Given the description of an element on the screen output the (x, y) to click on. 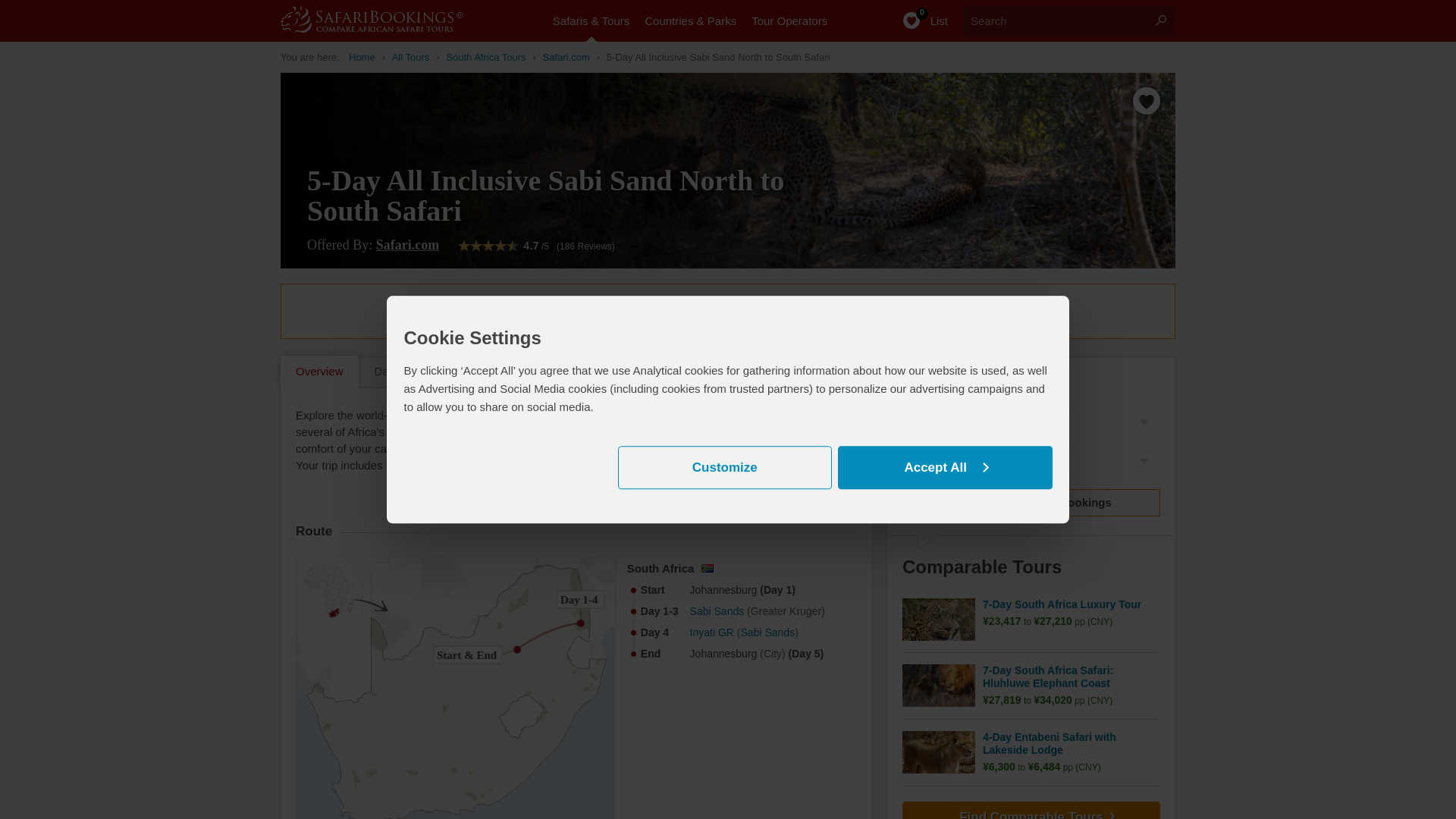
Safari.com (566, 57)
5-Day All Inclusive Sabi Sand North to South Safari (718, 57)
SafariBookings.com (387, 18)
Customize (724, 466)
All Tours (410, 57)
Safari.com (407, 244)
SafariBookings.com (362, 57)
Favorites List (916, 20)
South Africa Tours (485, 57)
Submit search query (1160, 20)
